Given the description of an element on the screen output the (x, y) to click on. 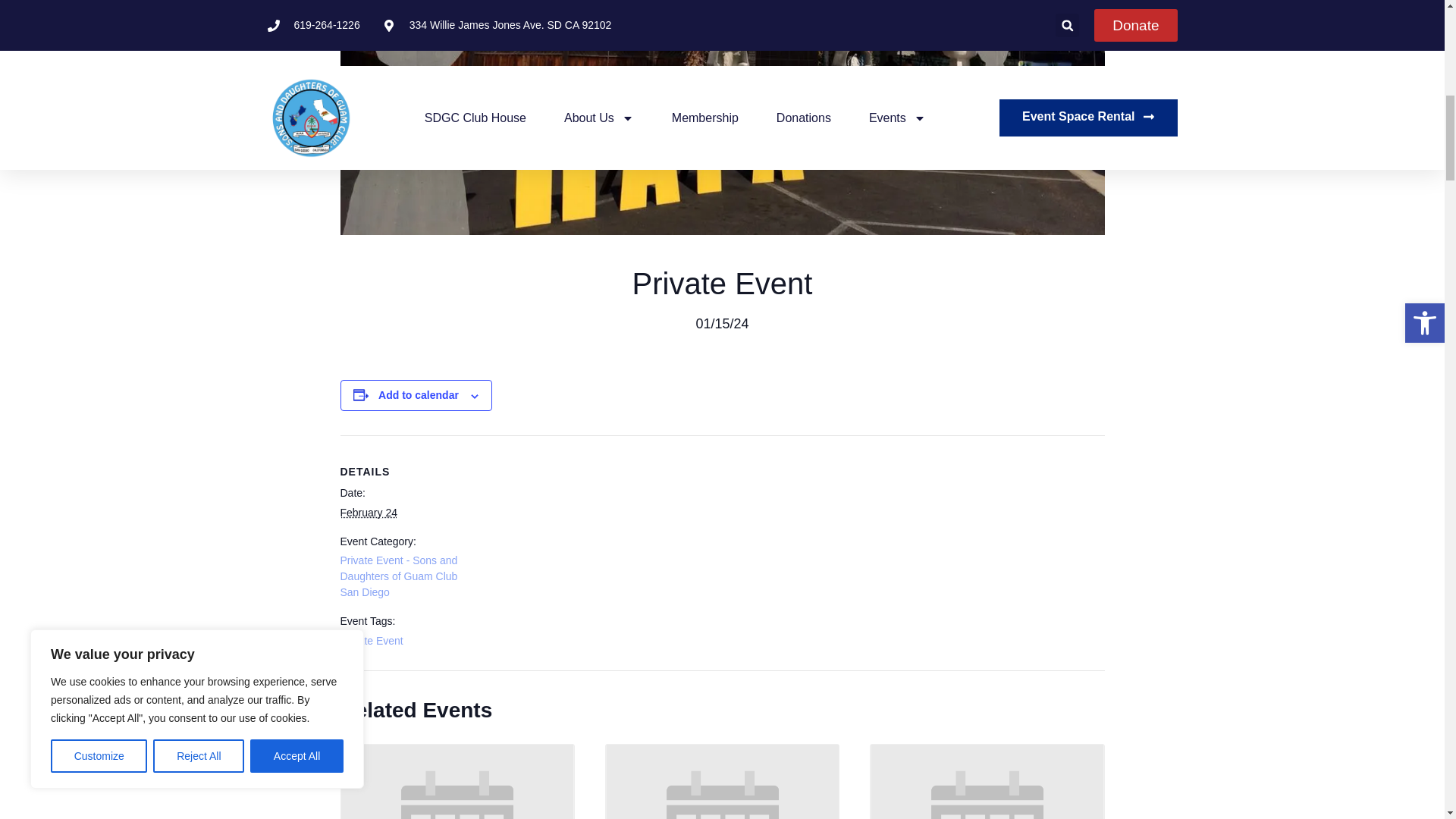
2024-02-24 (367, 512)
